Given the description of an element on the screen output the (x, y) to click on. 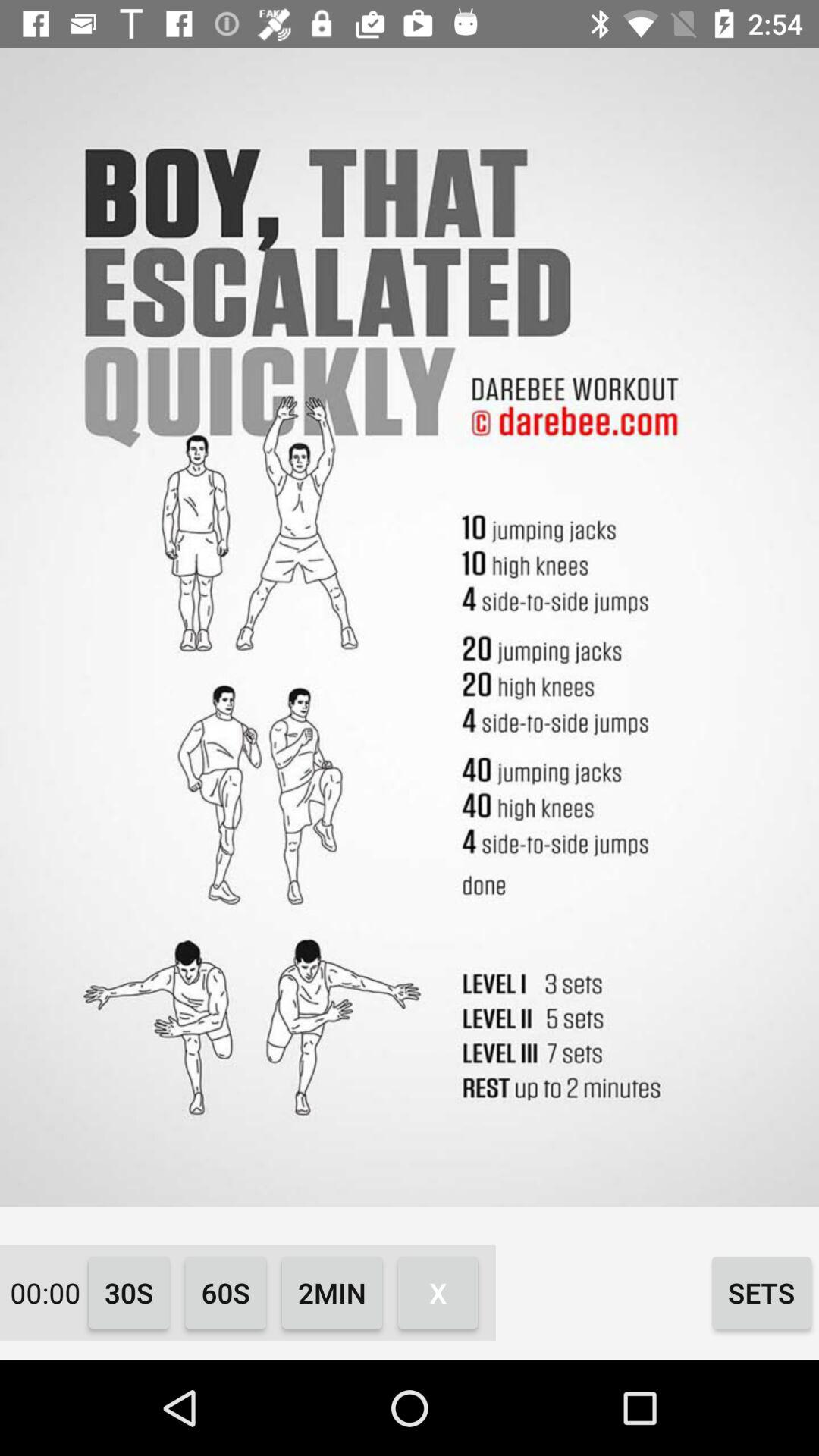
select the icon to the left of the 2min (225, 1292)
